Given the description of an element on the screen output the (x, y) to click on. 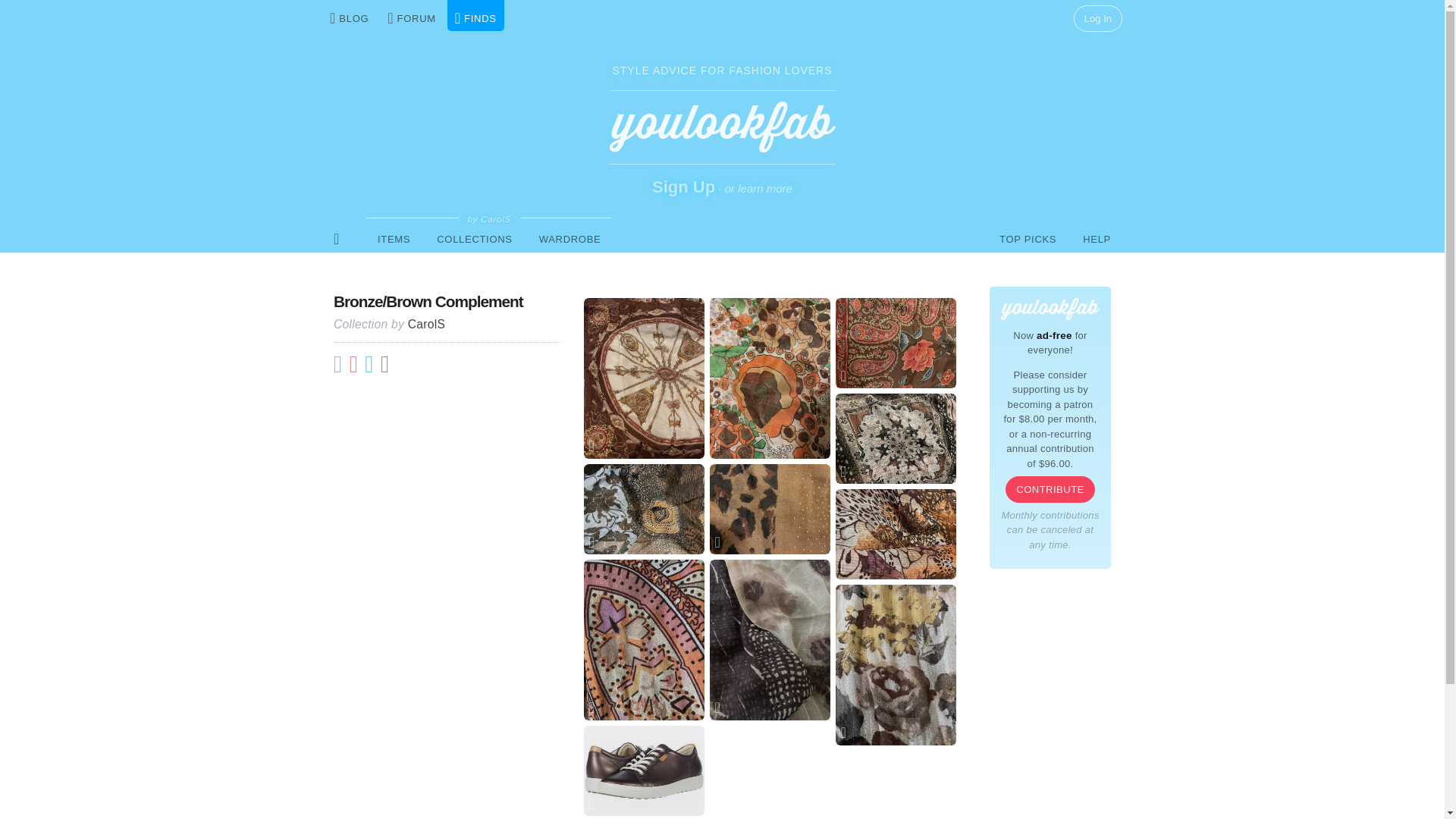
FORUM (412, 15)
CONTRIBUTE (1050, 488)
Sign Up (683, 186)
CarolS (426, 323)
WARDROBE (569, 238)
COLLECTIONS (473, 238)
ITEMS (394, 238)
HELP (1096, 238)
FINDS (474, 15)
or learn more (758, 187)
TOP PICKS (1027, 238)
BLOG (348, 15)
